Given the description of an element on the screen output the (x, y) to click on. 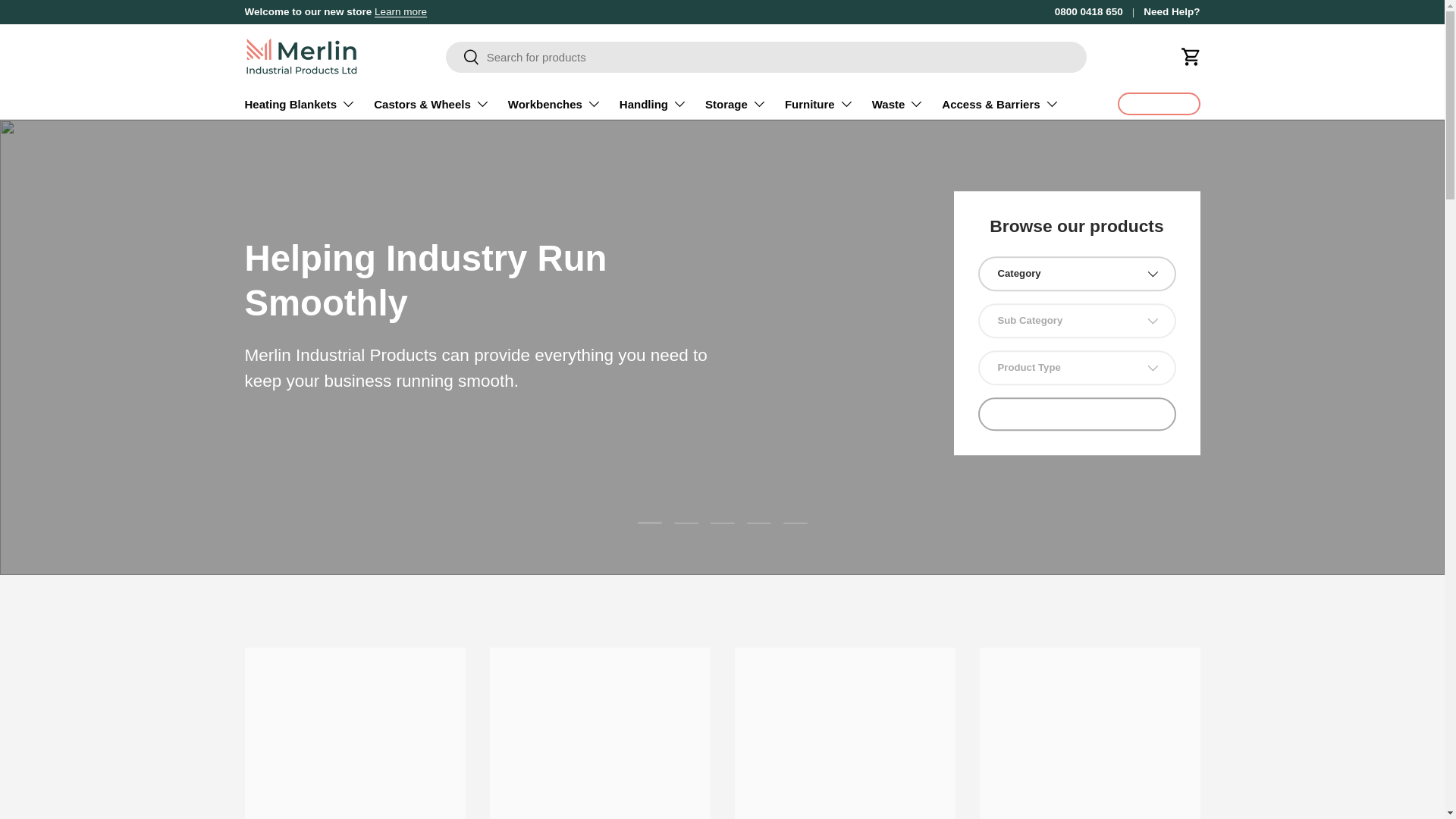
Skip to content (69, 21)
Need Help? (1170, 11)
Learn more (400, 11)
Search (462, 58)
0800 0418 650 (1099, 11)
Cart (1190, 56)
Heating Blankets (299, 103)
